Given the description of an element on the screen output the (x, y) to click on. 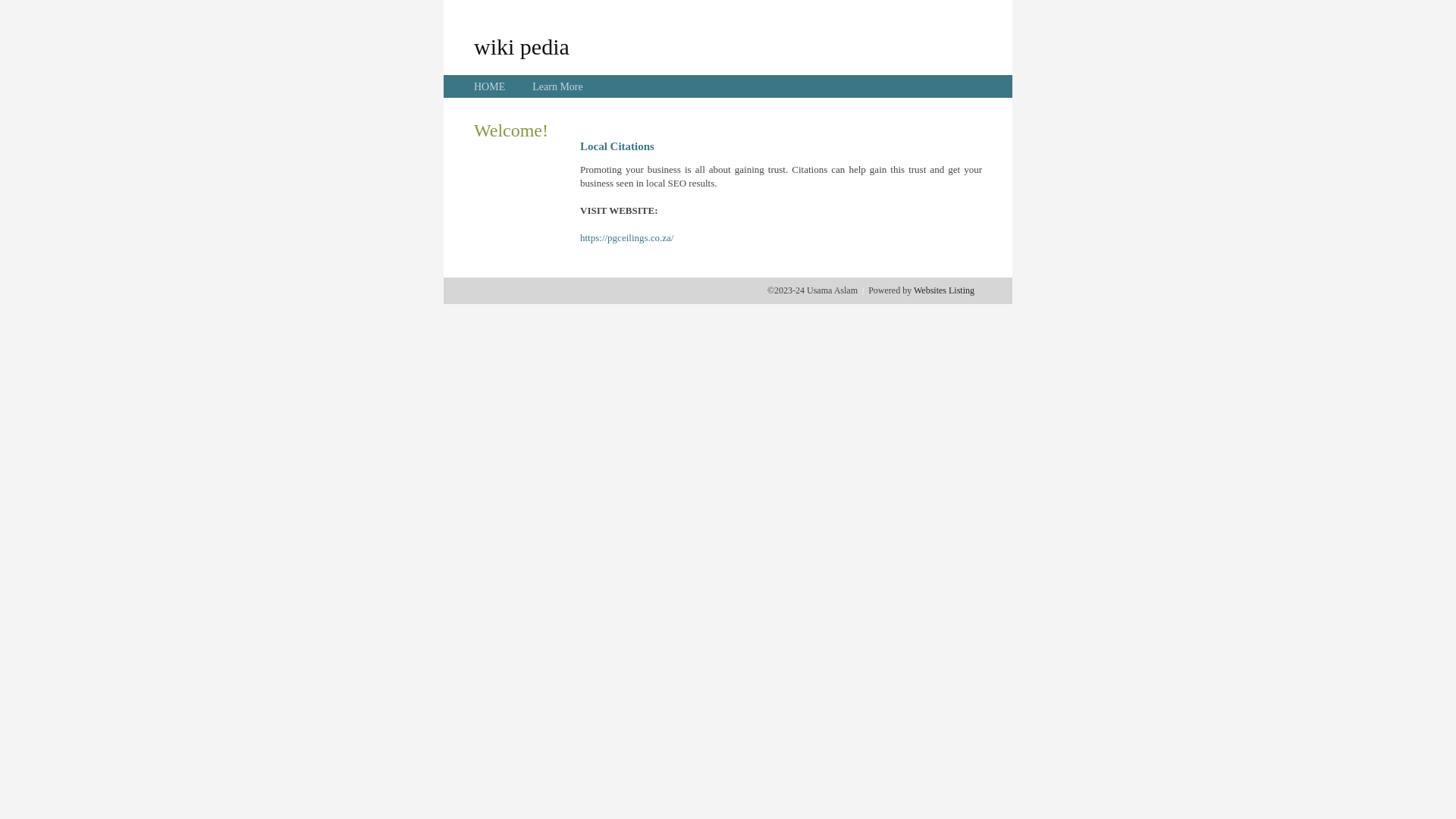
Websites Listing Element type: text (943, 290)
HOME Element type: text (489, 86)
Learn More Element type: text (557, 86)
https://pgceilings.co.za/ Element type: text (626, 237)
wiki pedia Element type: text (521, 46)
